Given the description of an element on the screen output the (x, y) to click on. 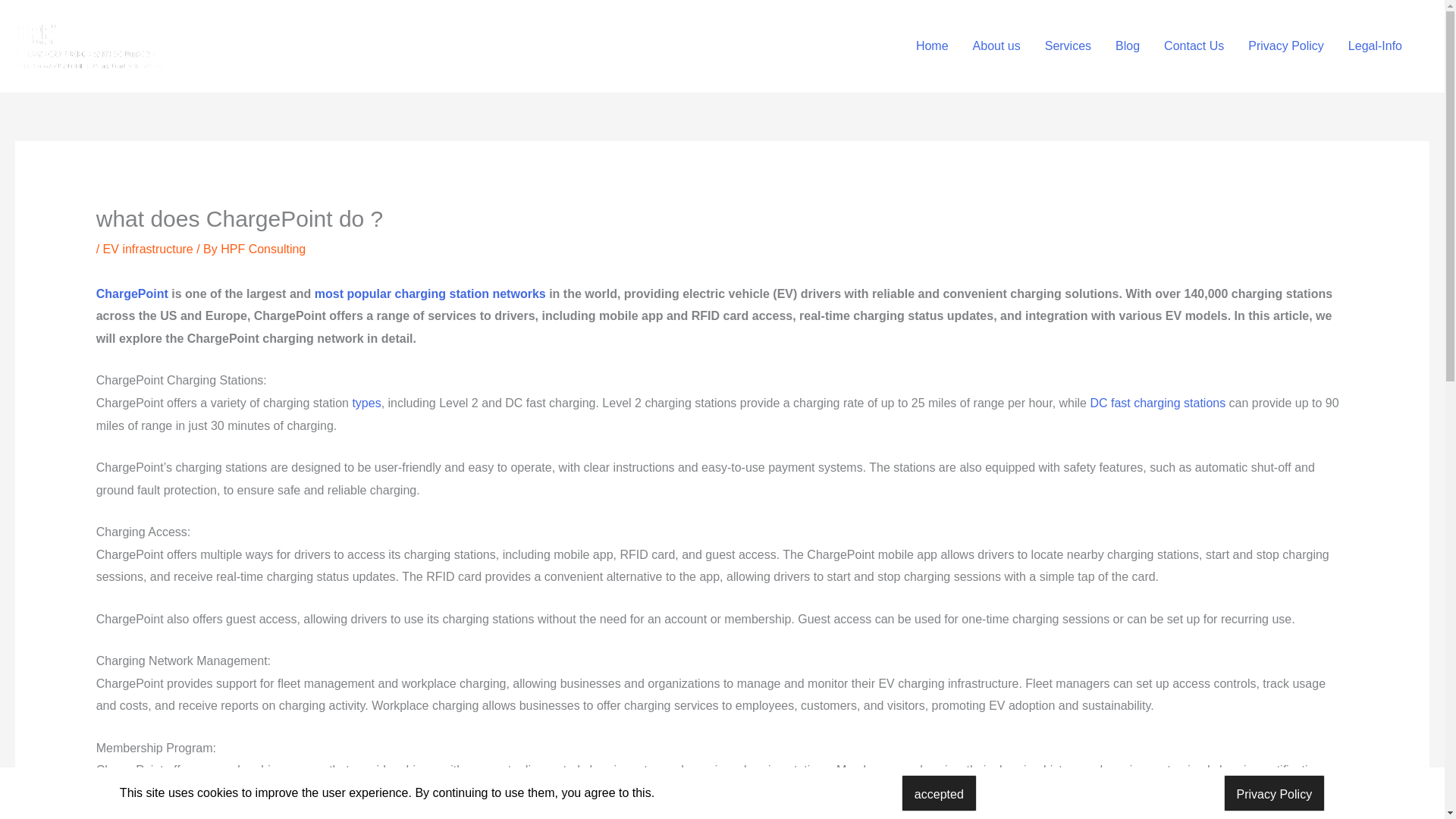
Legal-Info (1374, 45)
ChargePoint (132, 293)
EV infrastructure (148, 248)
HPF Consulting (263, 248)
View all posts by HPF Consulting (263, 248)
About us (996, 45)
Contact Us (1193, 45)
Services (1067, 45)
Privacy Policy (1286, 45)
Home (932, 45)
DC fast charging stations (1157, 402)
types (366, 402)
Blog (1127, 45)
most popular charging station networks (430, 293)
